Given the description of an element on the screen output the (x, y) to click on. 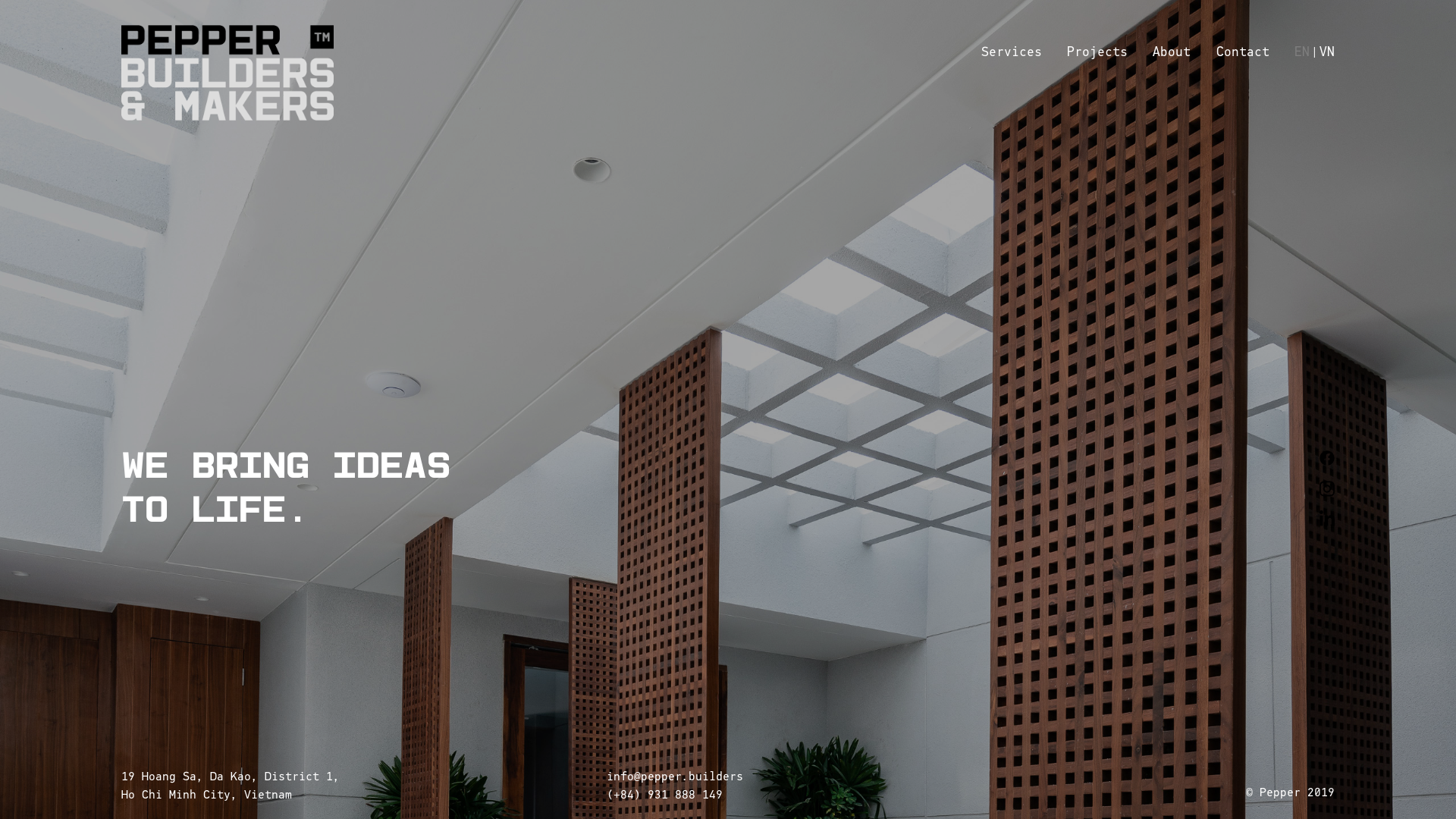
Contact Element type: text (1242, 52)
VN Element type: text (1326, 52)
(+84) 931 888 149 Element type: text (664, 794)
Projects Element type: text (1096, 52)
EN Element type: text (1301, 52)
About Element type: text (1171, 52)
info@pepper.builders Element type: text (674, 776)
Services Element type: text (1011, 52)
